Given the description of an element on the screen output the (x, y) to click on. 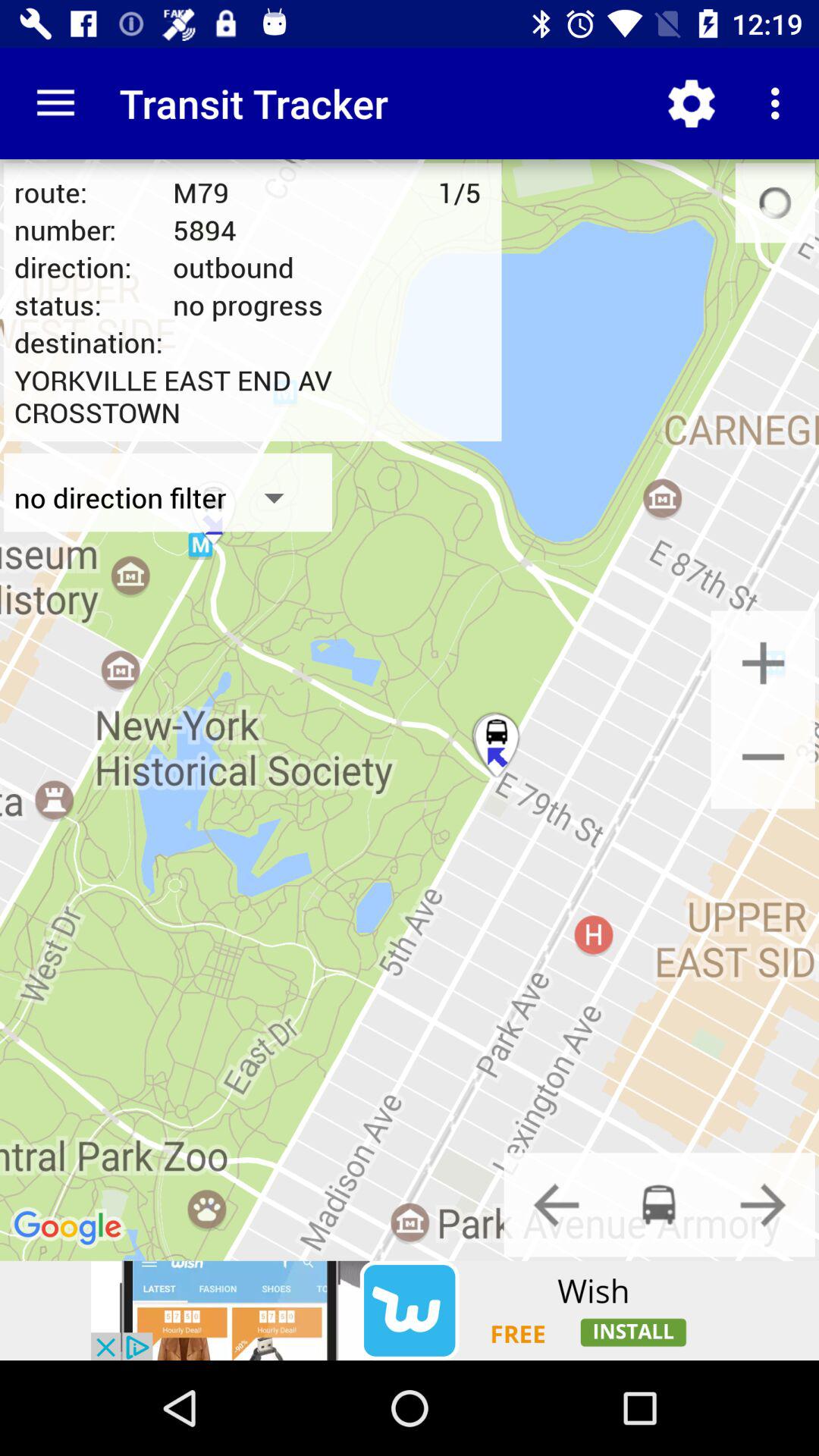
go to a page to install the wish app (409, 1310)
